Given the description of an element on the screen output the (x, y) to click on. 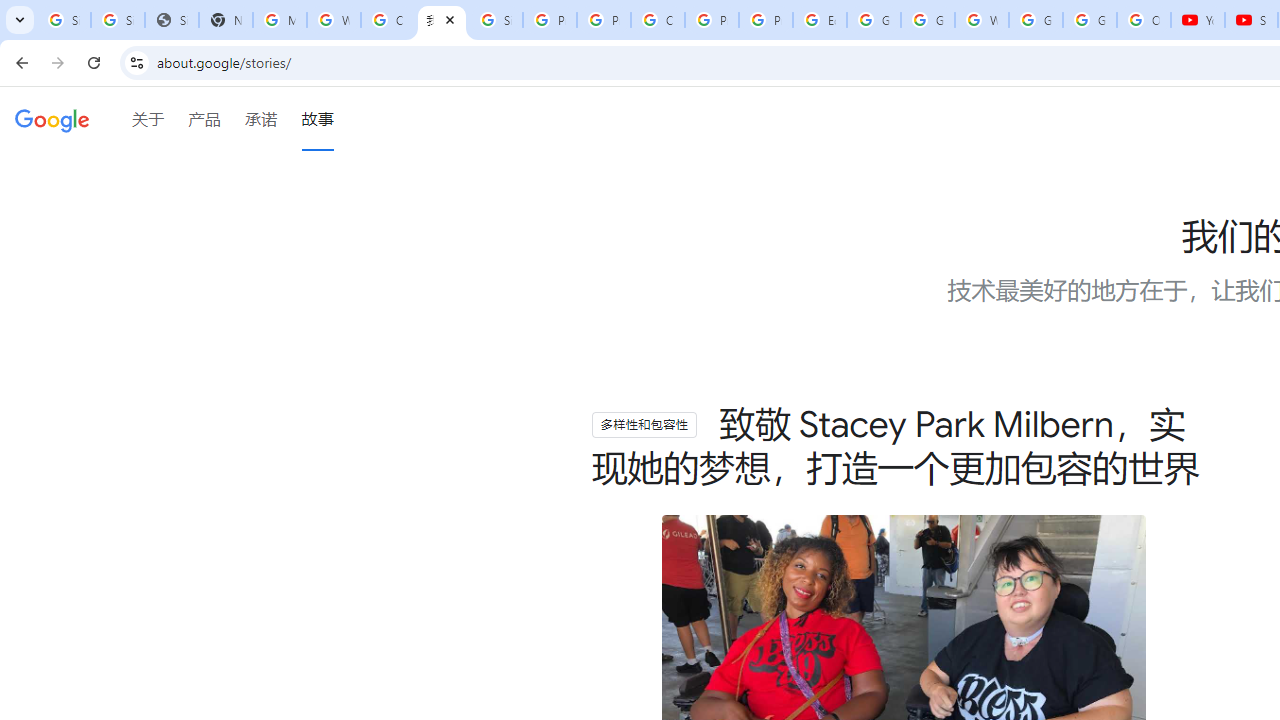
Who is my administrator? - Google Account Help (333, 20)
Create your Google Account (657, 20)
Google (52, 121)
Edit and view right-to-left text - Google Docs Editors Help (819, 20)
